Given the description of an element on the screen output the (x, y) to click on. 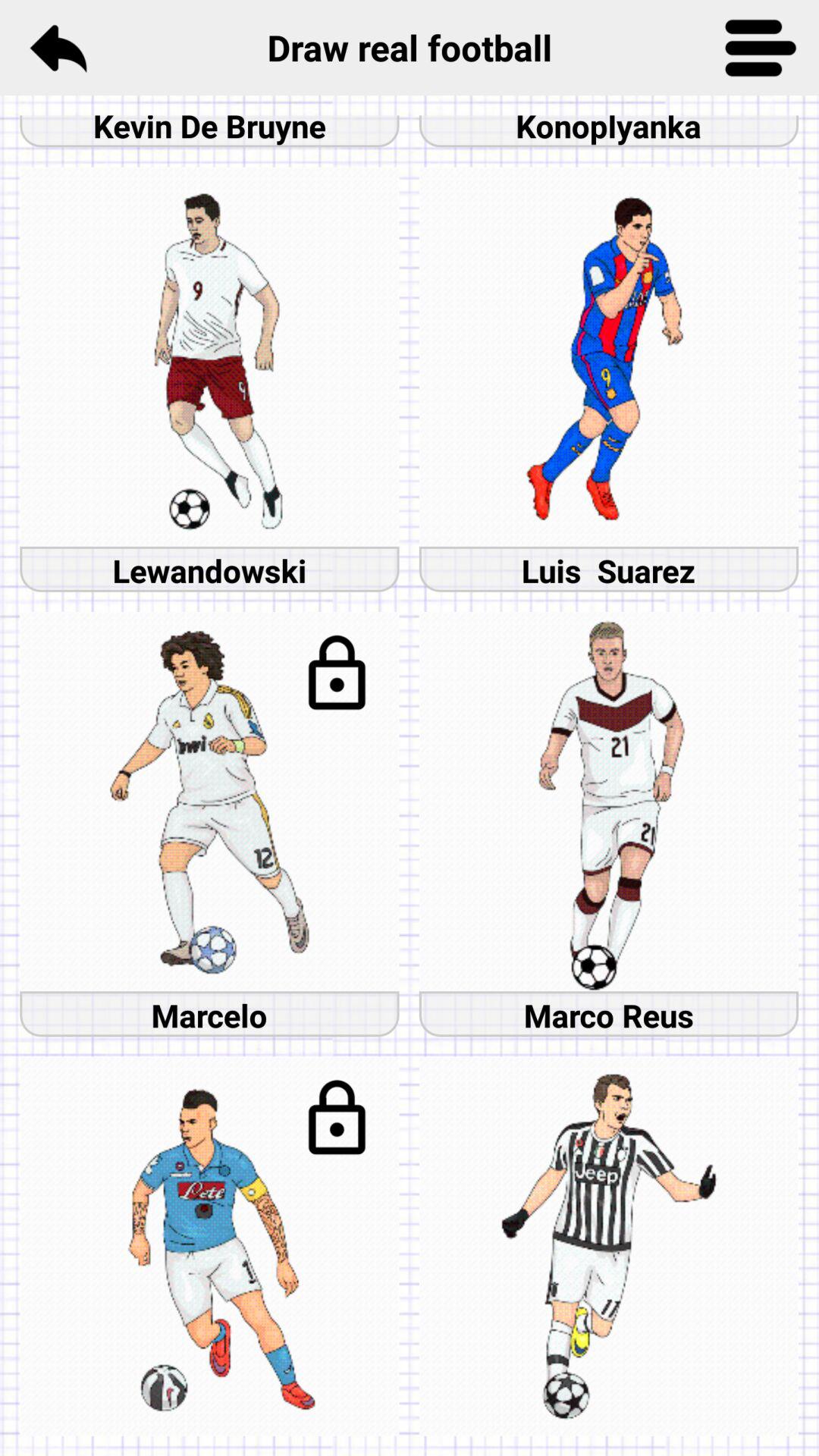
turn off item next to the draw real football item (58, 47)
